Given the description of an element on the screen output the (x, y) to click on. 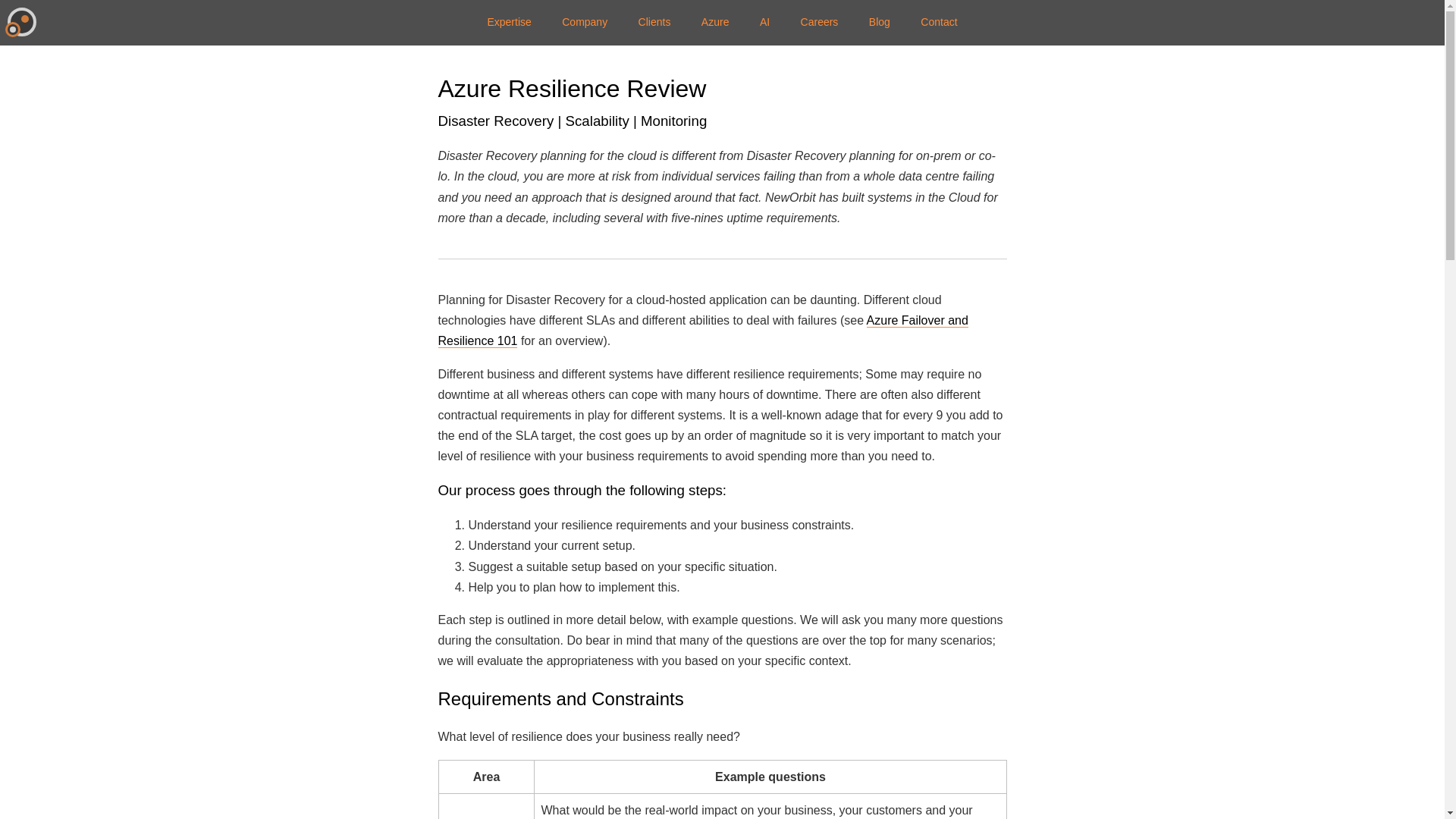
Azure Failover and Resilience 101 (703, 330)
AI (764, 22)
Careers (819, 22)
Clients (654, 22)
Clients (654, 22)
Expertise (508, 22)
Blog (880, 22)
Azure (714, 22)
Expertise (508, 22)
Contact (939, 22)
